Given the description of an element on the screen output the (x, y) to click on. 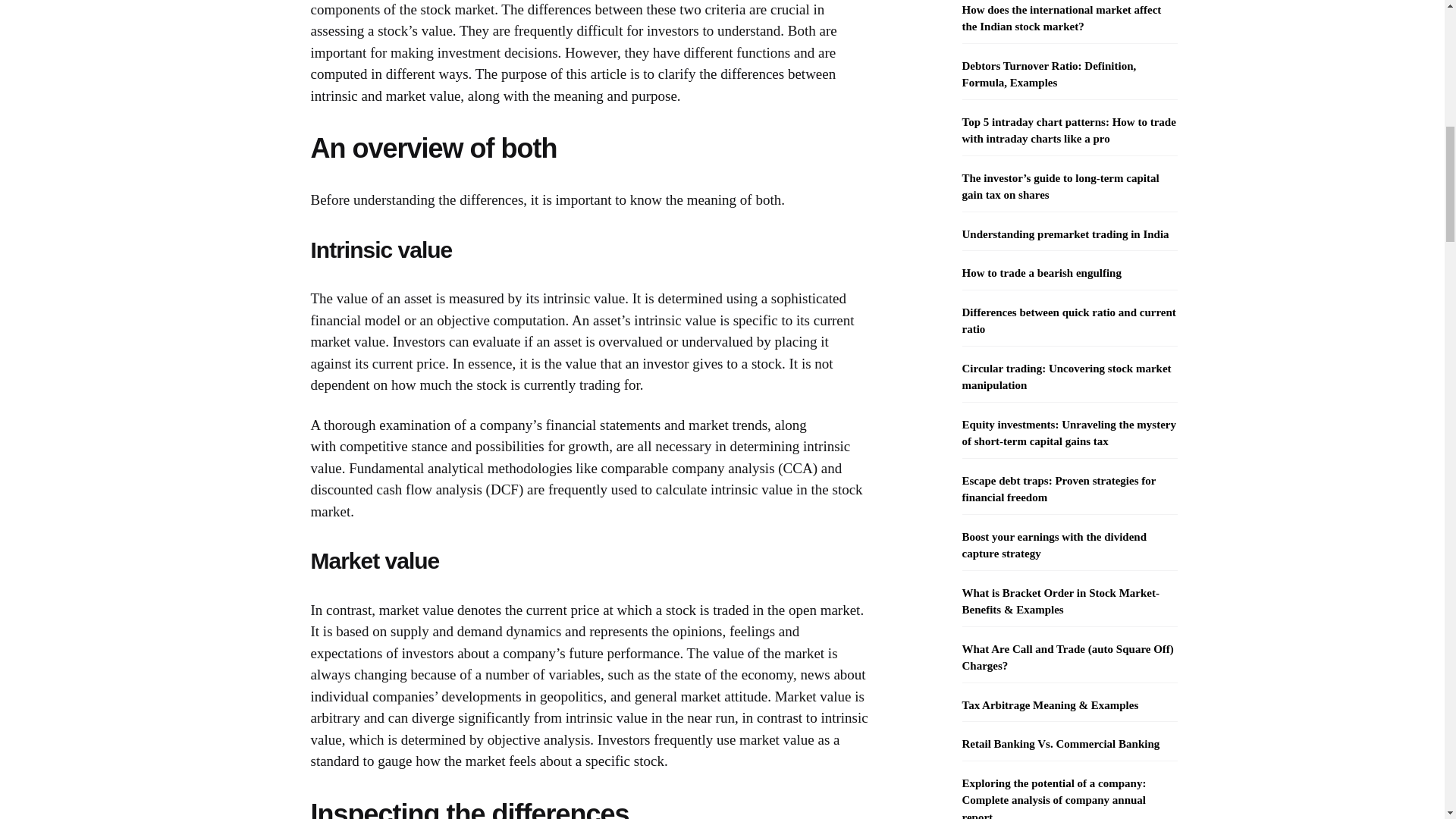
Debtors Turnover Ratio: Definition, Formula, Examples (1068, 74)
